Given the description of an element on the screen output the (x, y) to click on. 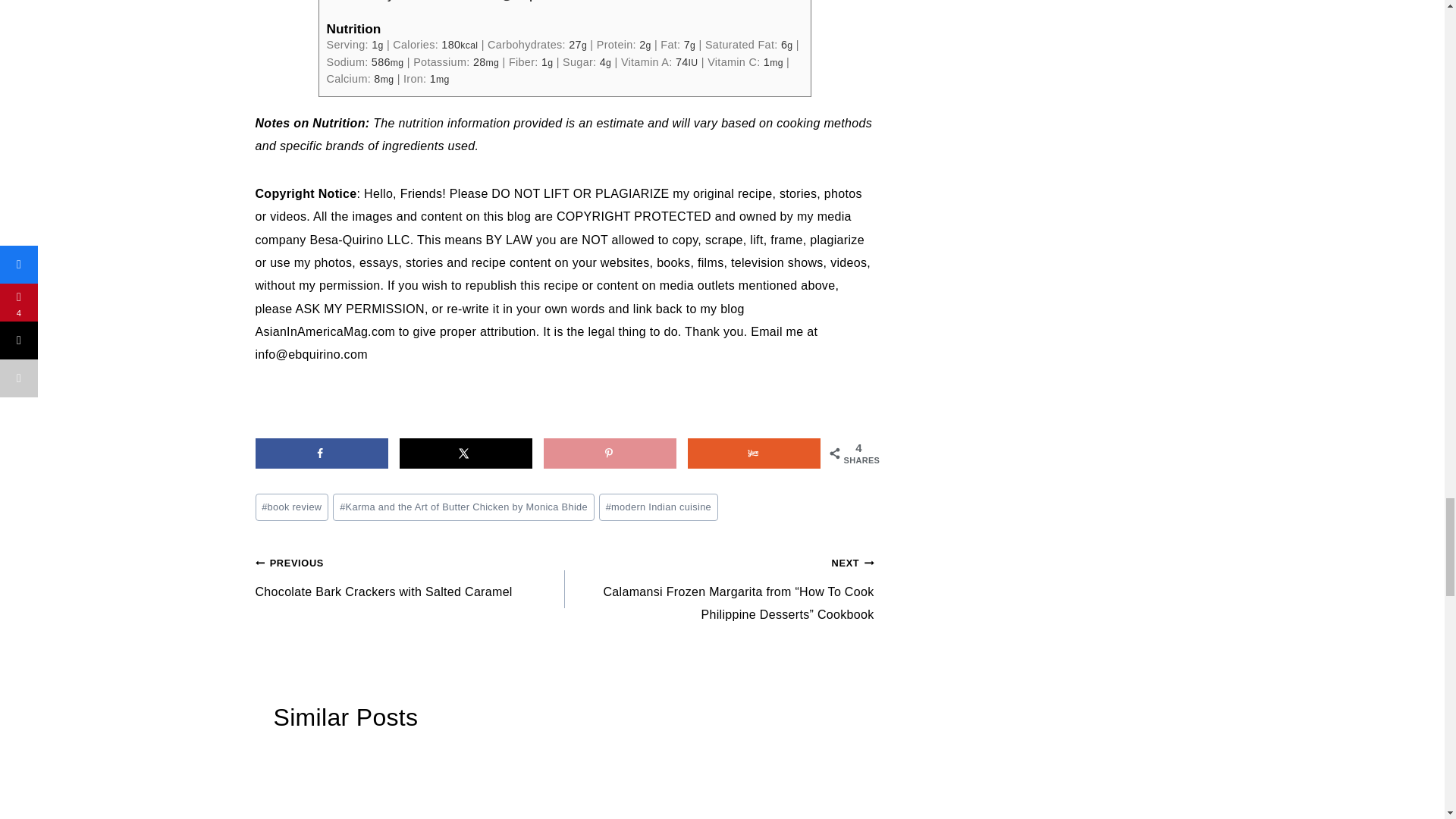
Share on Facebook (320, 453)
modern Indian cuisine (657, 507)
book review (291, 507)
Share on X (465, 453)
Karma and the Art of Butter Chicken by Monica Bhide (463, 507)
Share on Yummly (754, 453)
Save to Pinterest (610, 453)
